Given the description of an element on the screen output the (x, y) to click on. 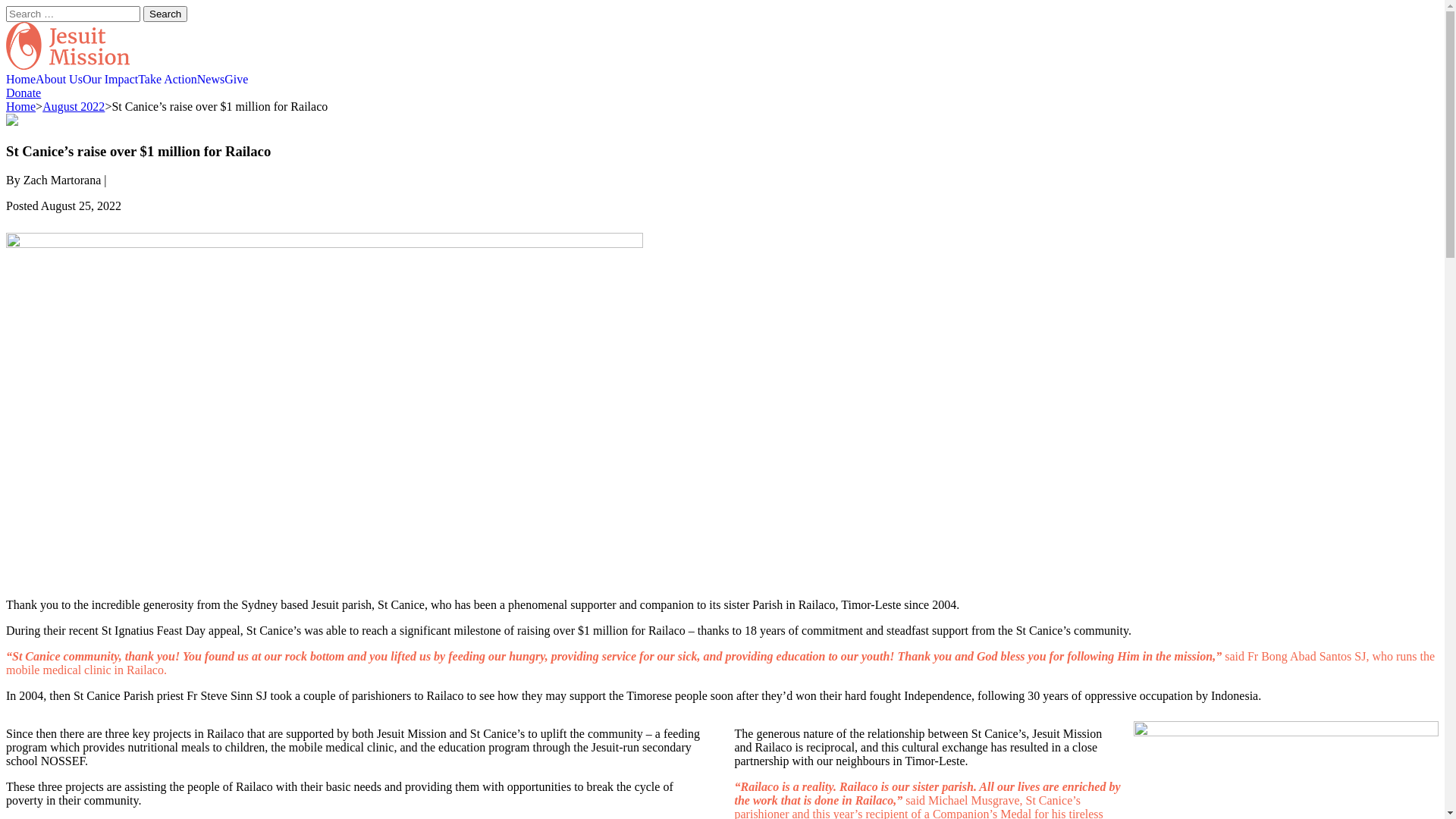
Search Element type: text (165, 13)
Take Action Element type: text (167, 79)
August 2022 Element type: text (73, 106)
About Us Element type: text (58, 79)
Home Element type: text (20, 106)
Give Element type: text (235, 79)
Home Element type: text (20, 79)
News Element type: text (210, 79)
Our Impact Element type: text (110, 79)
Donate Element type: text (23, 92)
Skip to content Element type: text (5, 21)
